Given the description of an element on the screen output the (x, y) to click on. 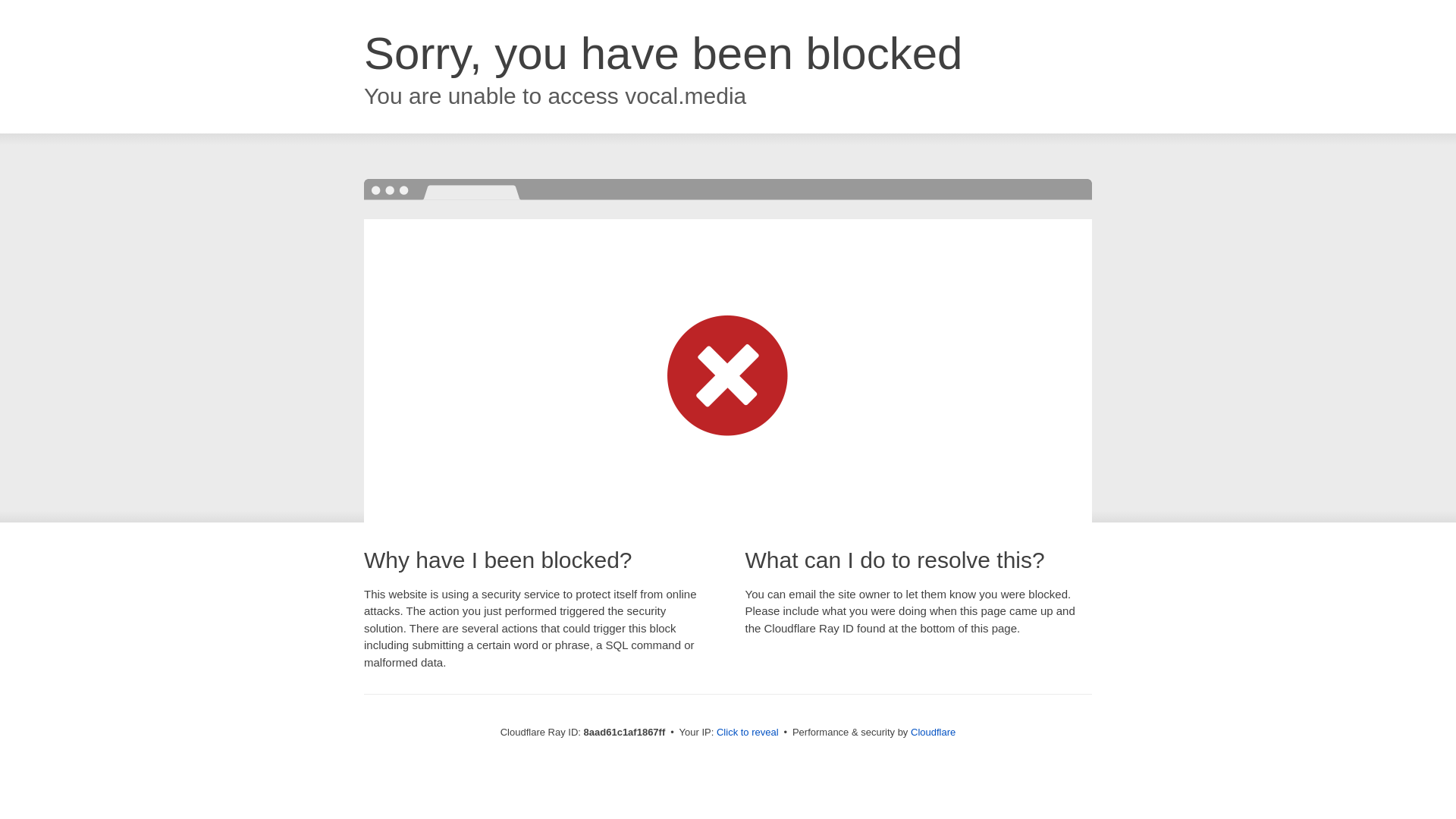
Cloudflare (933, 731)
Click to reveal (747, 732)
